Given the description of an element on the screen output the (x, y) to click on. 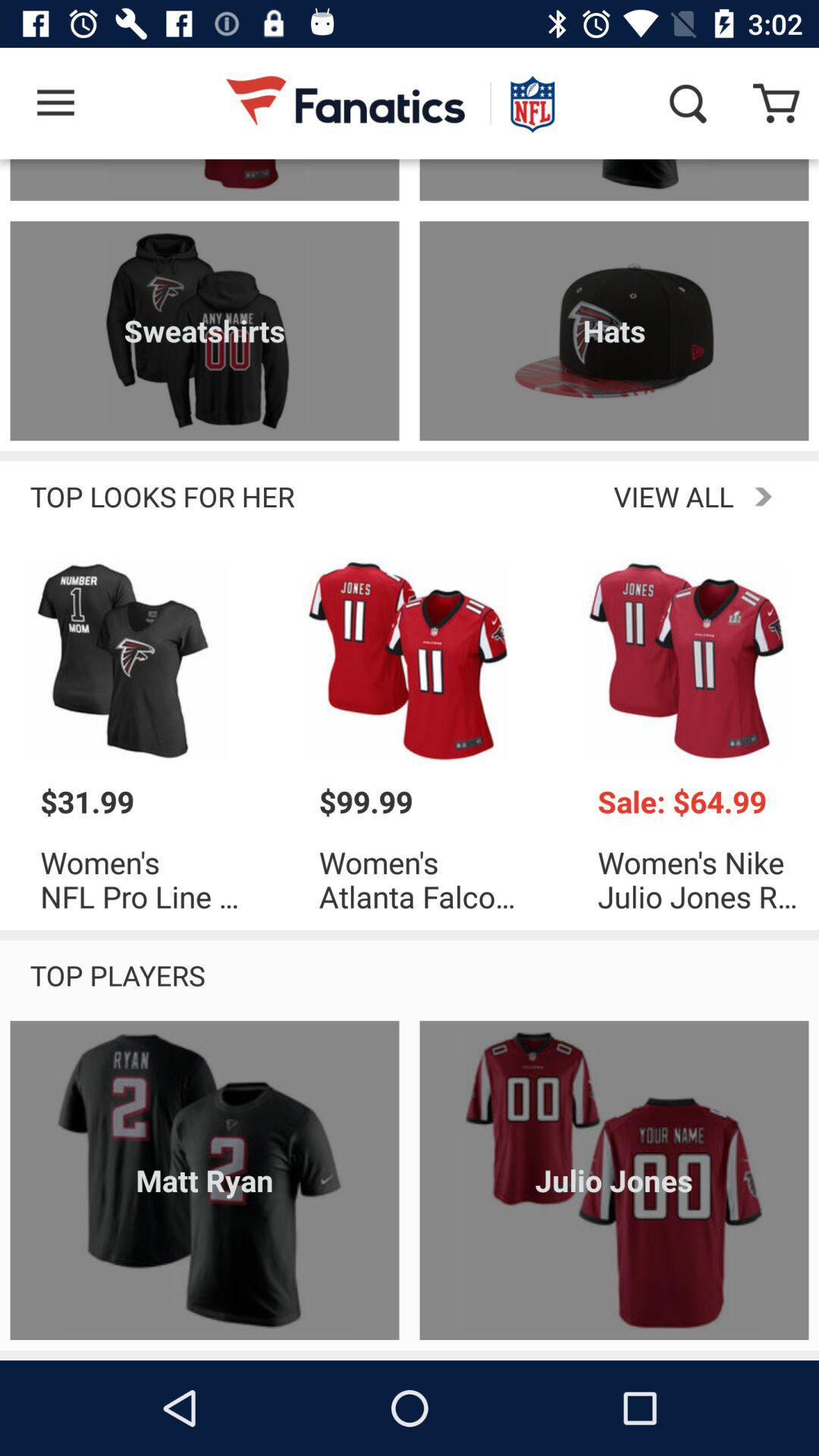
open view all item (551, 496)
